Given the description of an element on the screen output the (x, y) to click on. 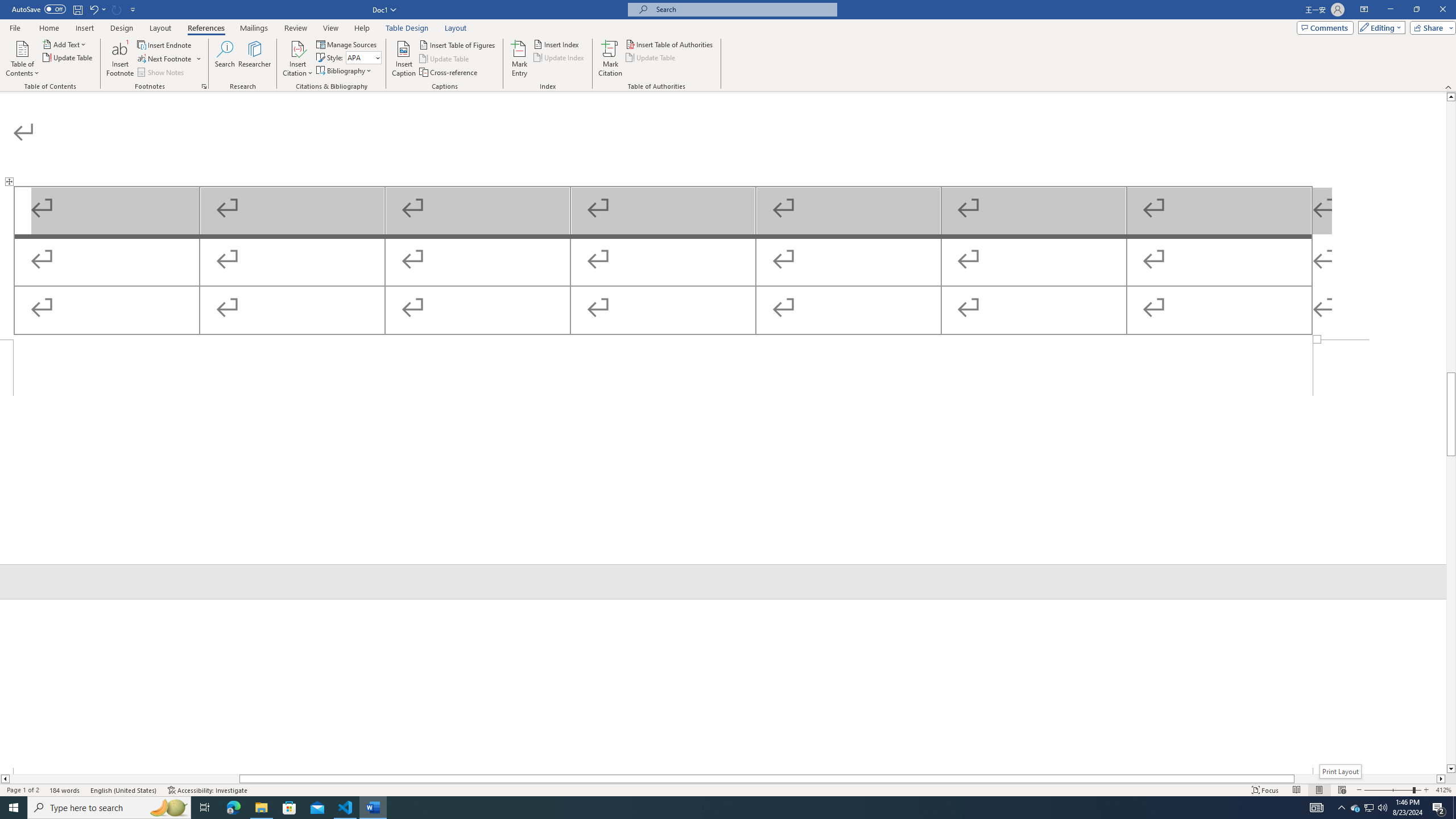
Insert Table of Figures... (458, 44)
Show Notes (161, 72)
Add Text (65, 44)
Next Footnote (165, 58)
Footnote and Endnote Dialog... (203, 85)
